Given the description of an element on the screen output the (x, y) to click on. 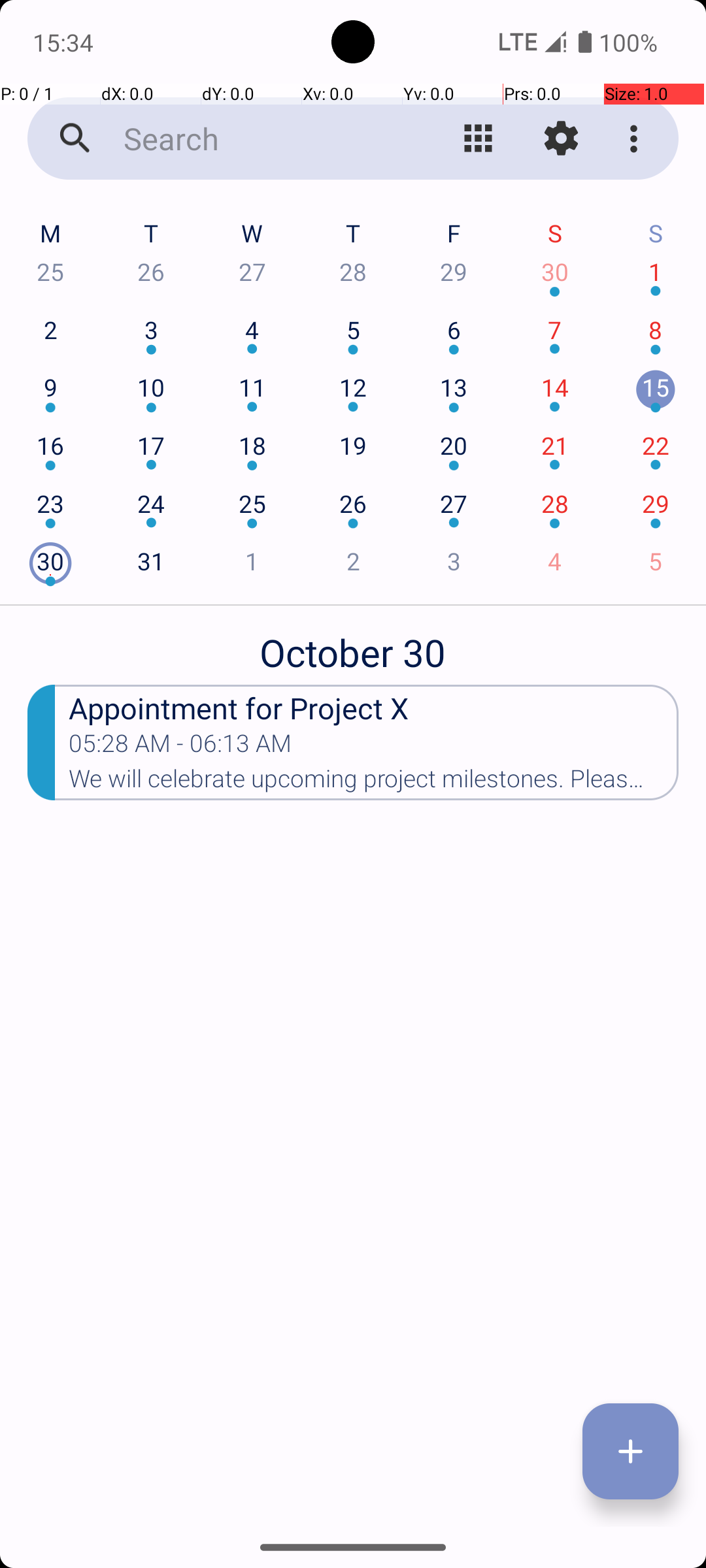
October 30 Element type: android.widget.TextView (352, 644)
05:28 AM - 06:13 AM Element type: android.widget.TextView (179, 747)
We will celebrate upcoming project milestones. Please bring relevant documents. Element type: android.widget.TextView (373, 782)
